Given the description of an element on the screen output the (x, y) to click on. 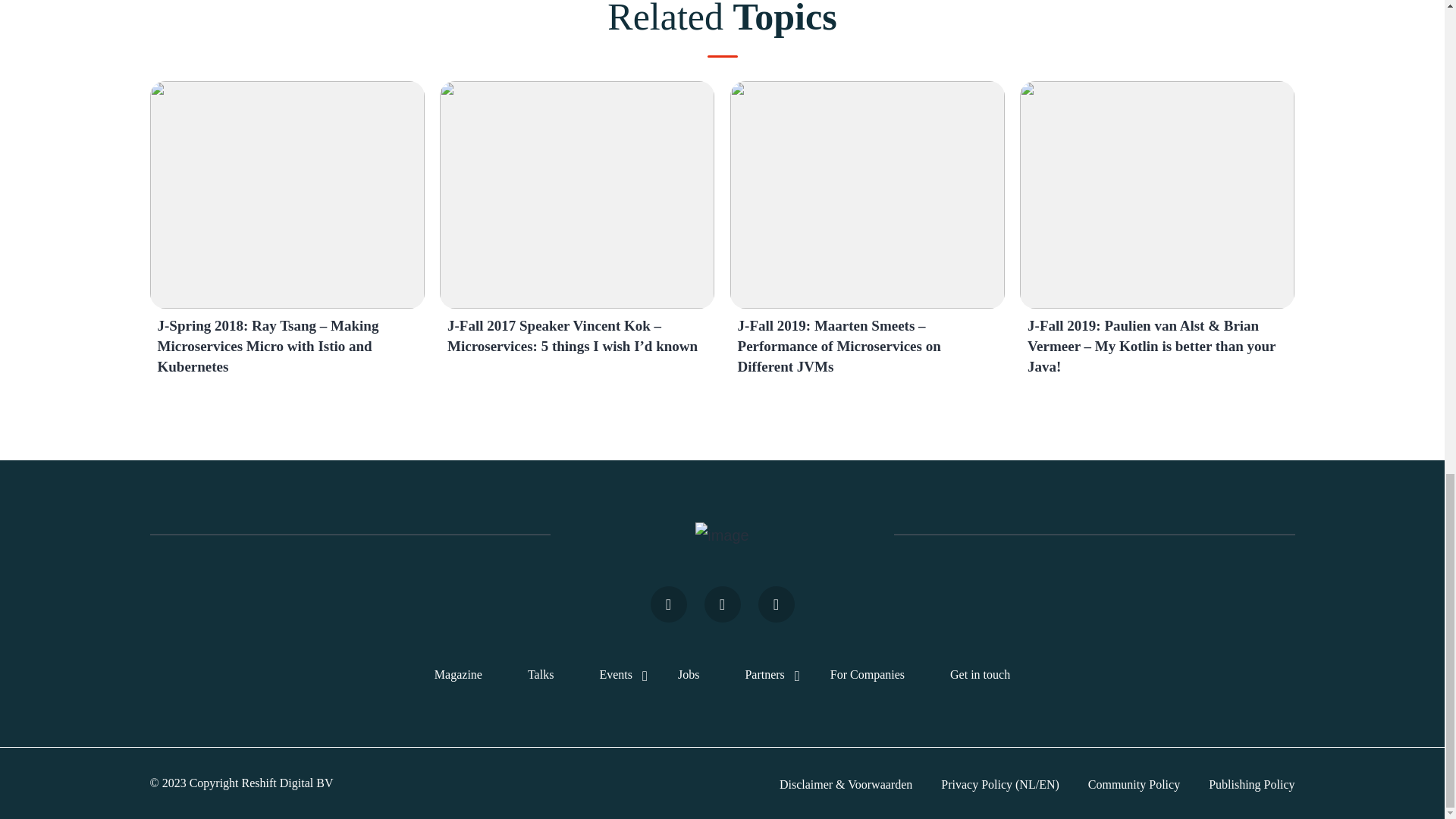
Talks (540, 674)
Magazine (457, 674)
